Given the description of an element on the screen output the (x, y) to click on. 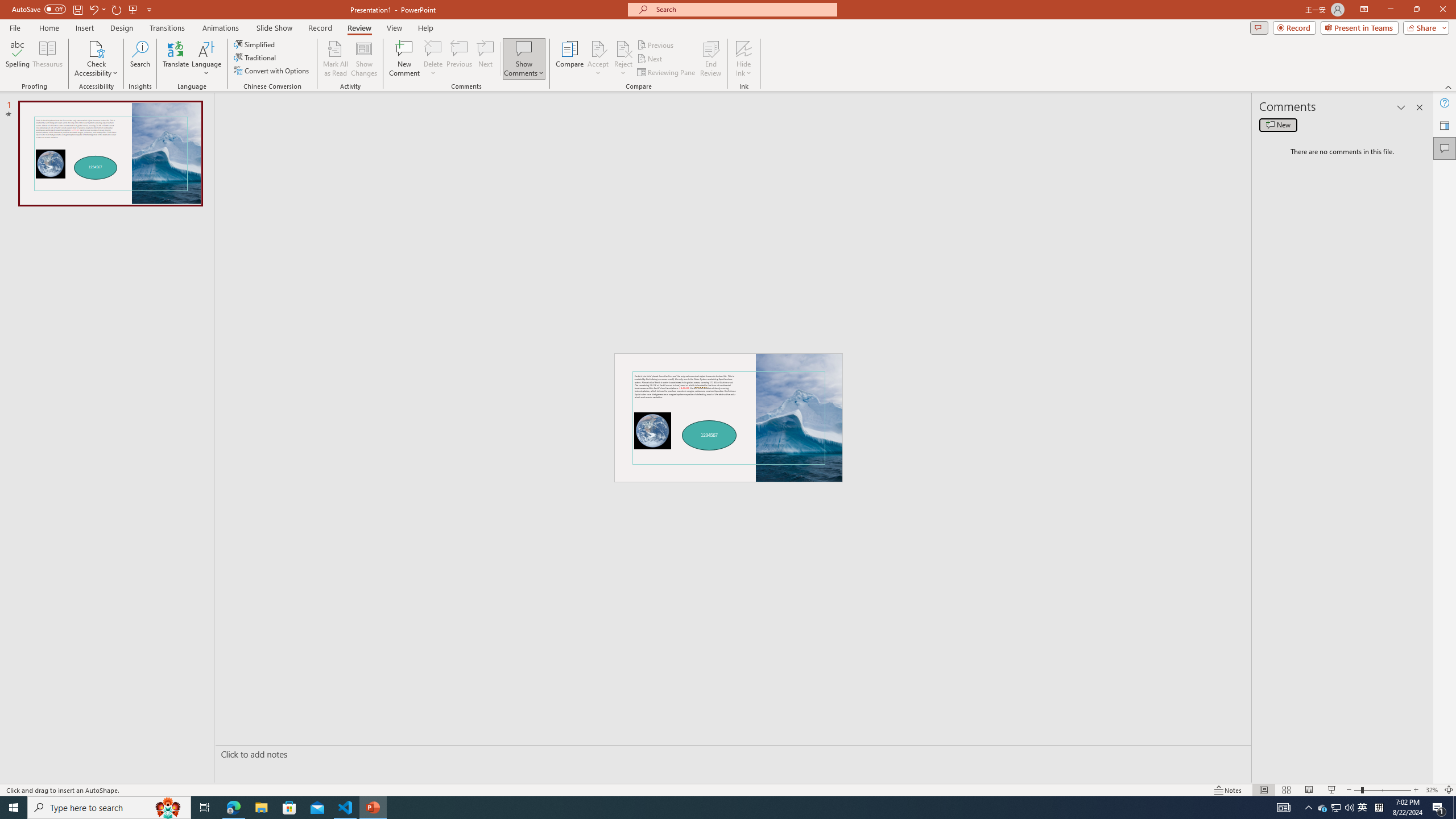
Zoom 32% (1431, 790)
